Given the description of an element on the screen output the (x, y) to click on. 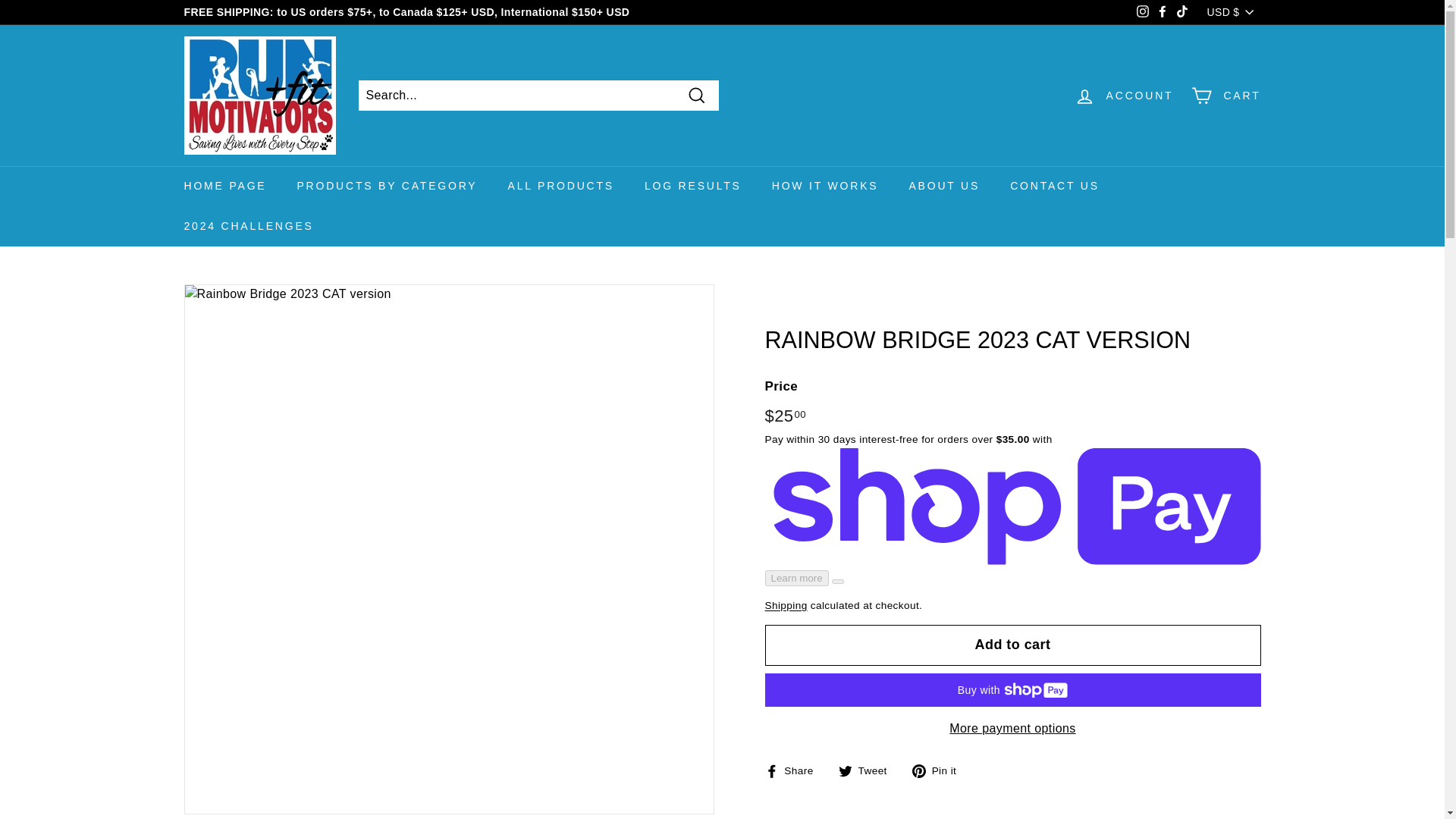
Tweet on Twitter (868, 770)
Share on Facebook (794, 770)
Pin on Pinterest (940, 770)
